Given the description of an element on the screen output the (x, y) to click on. 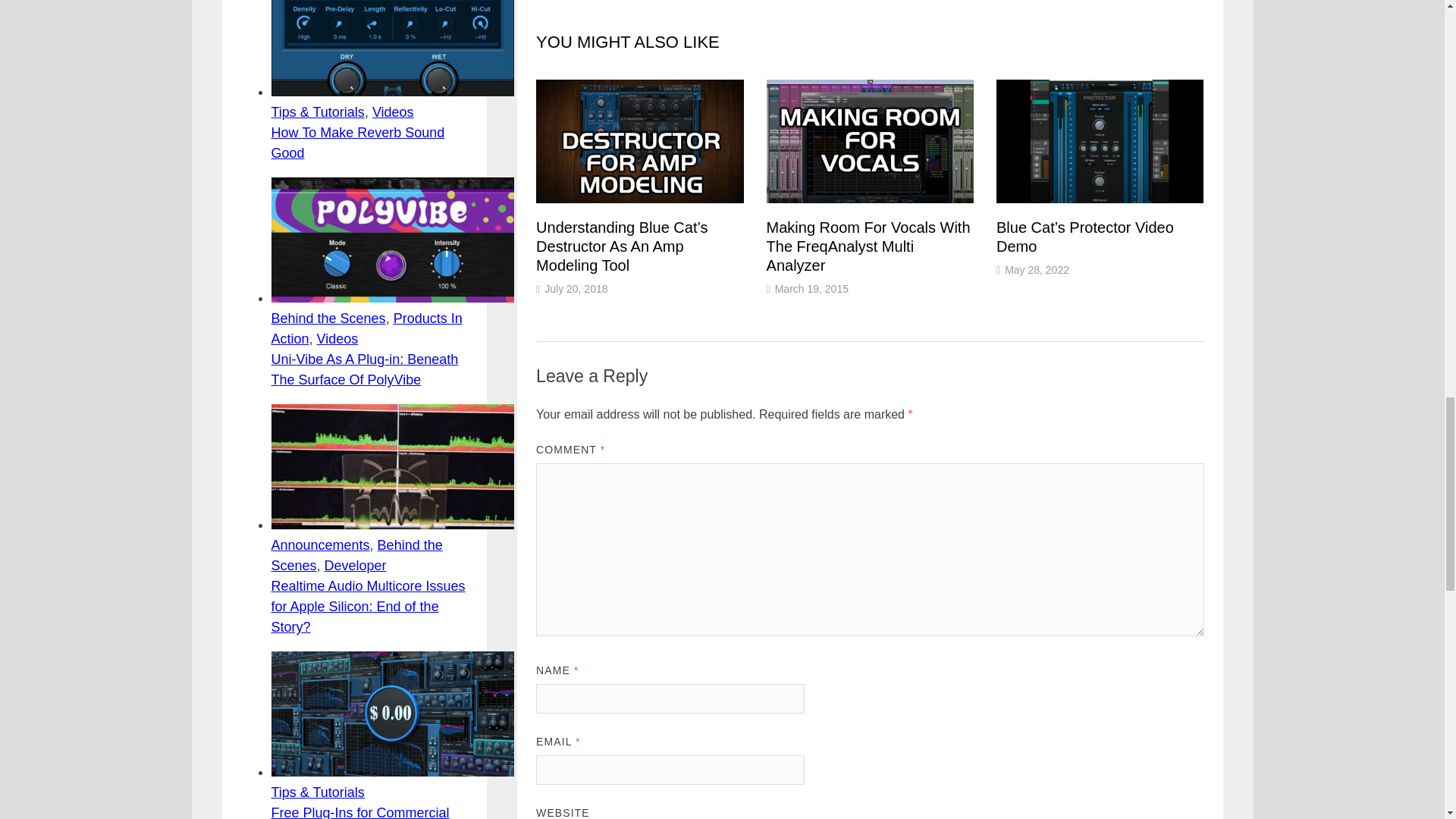
Making Room For Vocals With The FreqAnalyst Multi Analyzer (869, 246)
March 19, 2015 (811, 288)
May 28, 2022 (1036, 269)
Making Room For Vocals With The FreqAnalyst Multi Analyzer (869, 246)
July 20, 2018 (575, 288)
